Given the description of an element on the screen output the (x, y) to click on. 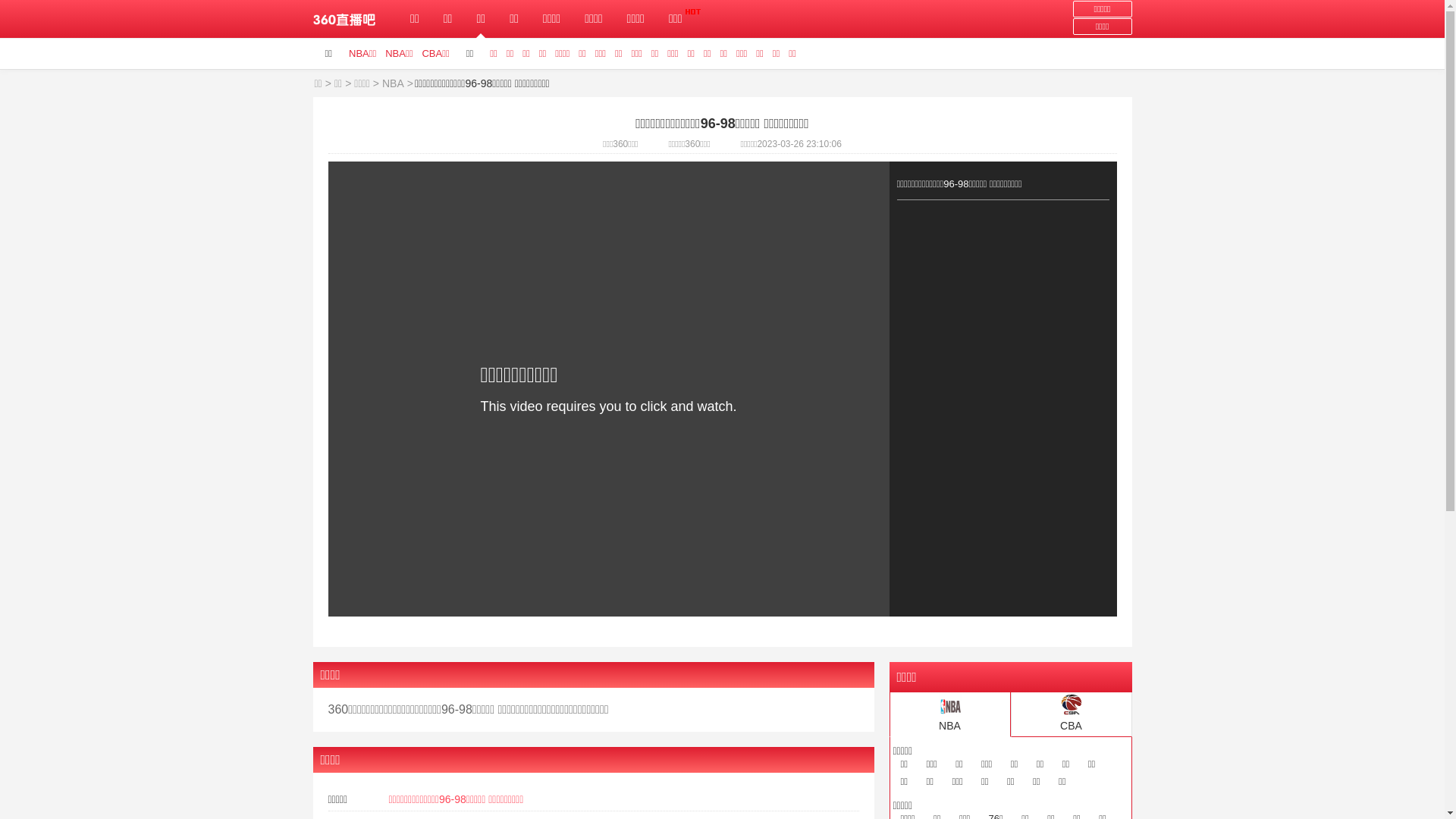
NBA Element type: text (393, 83)
